Given the description of an element on the screen output the (x, y) to click on. 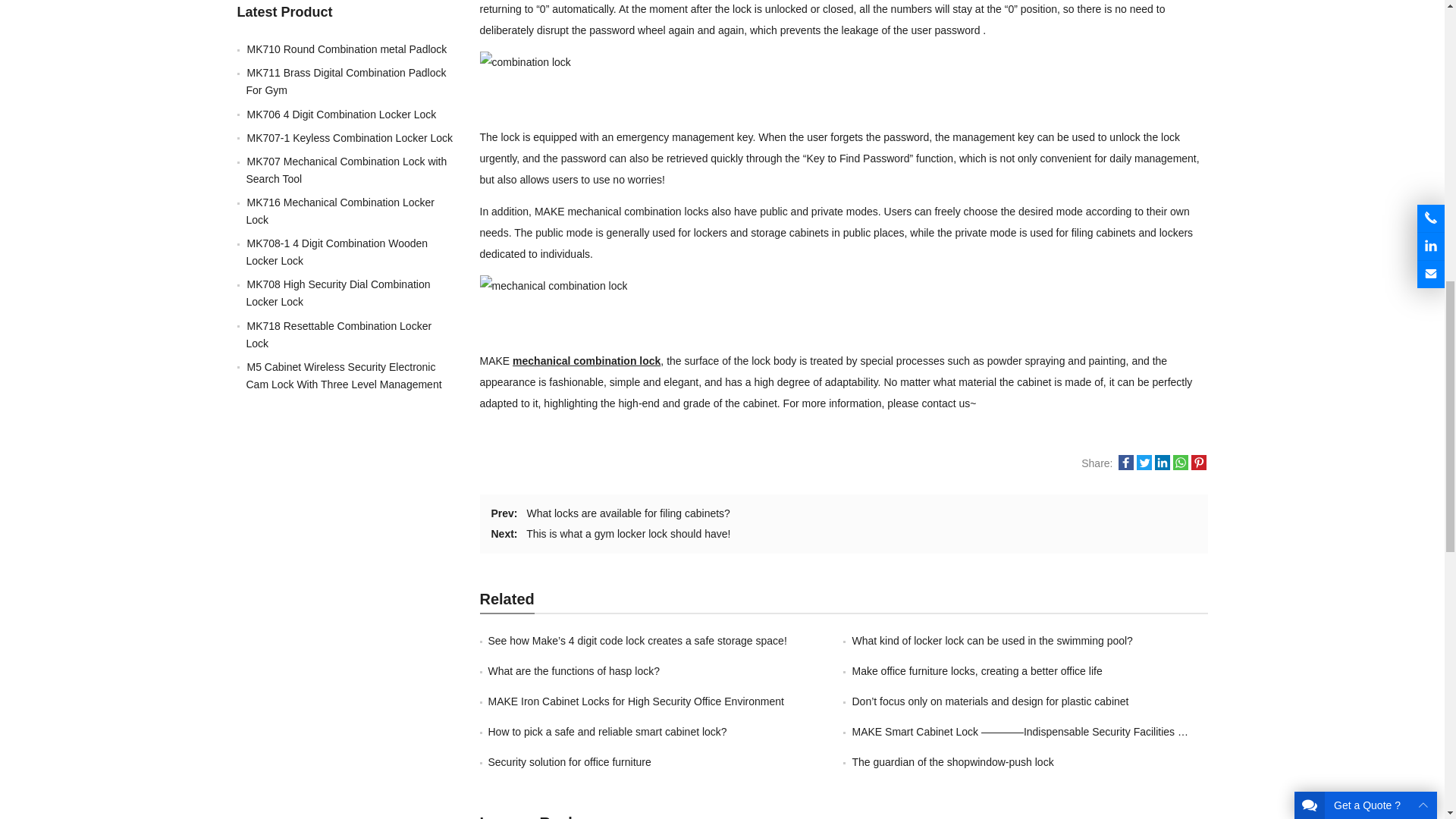
Make office furniture locks, creating a better office life (976, 671)
mechanical combination lock (553, 285)
What kind of locker lock can be used in the swimming pool? (991, 640)
What locks are available for filing cabinets? (627, 512)
combination lock (524, 61)
Share on Facebook (1125, 466)
Share on Pinterest (1198, 466)
Share on LinkedIn (1161, 466)
mechanical combination lock (586, 360)
Share on WhatsApp (1179, 466)
What are the functions of hasp lock? (573, 671)
MAKE Iron Cabinet Locks for High Security Office Environment (635, 701)
mechanical combination lock (586, 360)
Share on Twitter (1143, 466)
